Given the description of an element on the screen output the (x, y) to click on. 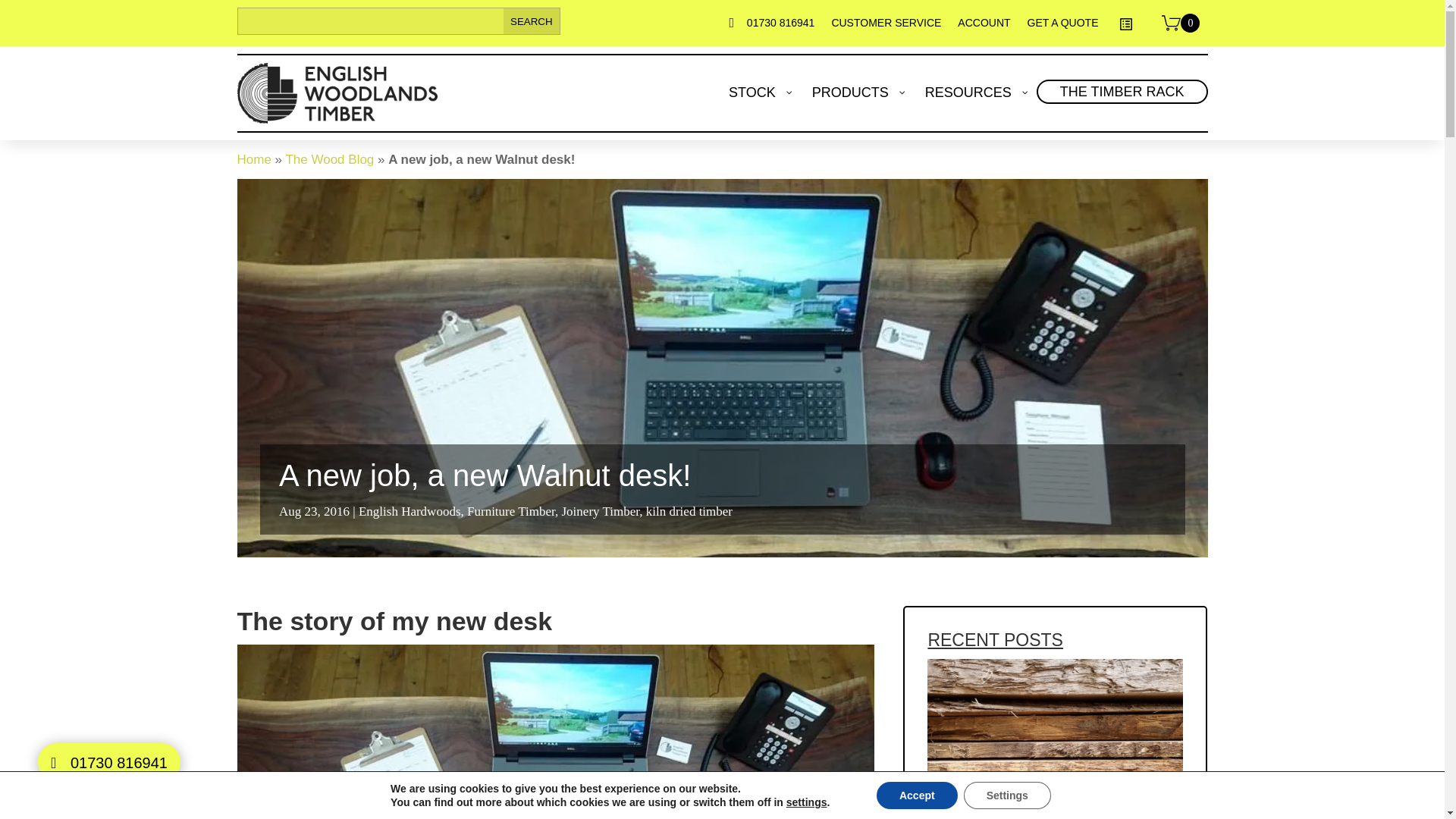
Search (531, 21)
PRODUCTS (857, 92)
ACCOUNT (984, 27)
Search (531, 21)
GET A QUOTE (1063, 27)
RESOURCES (975, 92)
01730 816941 (780, 27)
STOCK (758, 92)
CUSTOMER SERVICE (885, 27)
